Given the description of an element on the screen output the (x, y) to click on. 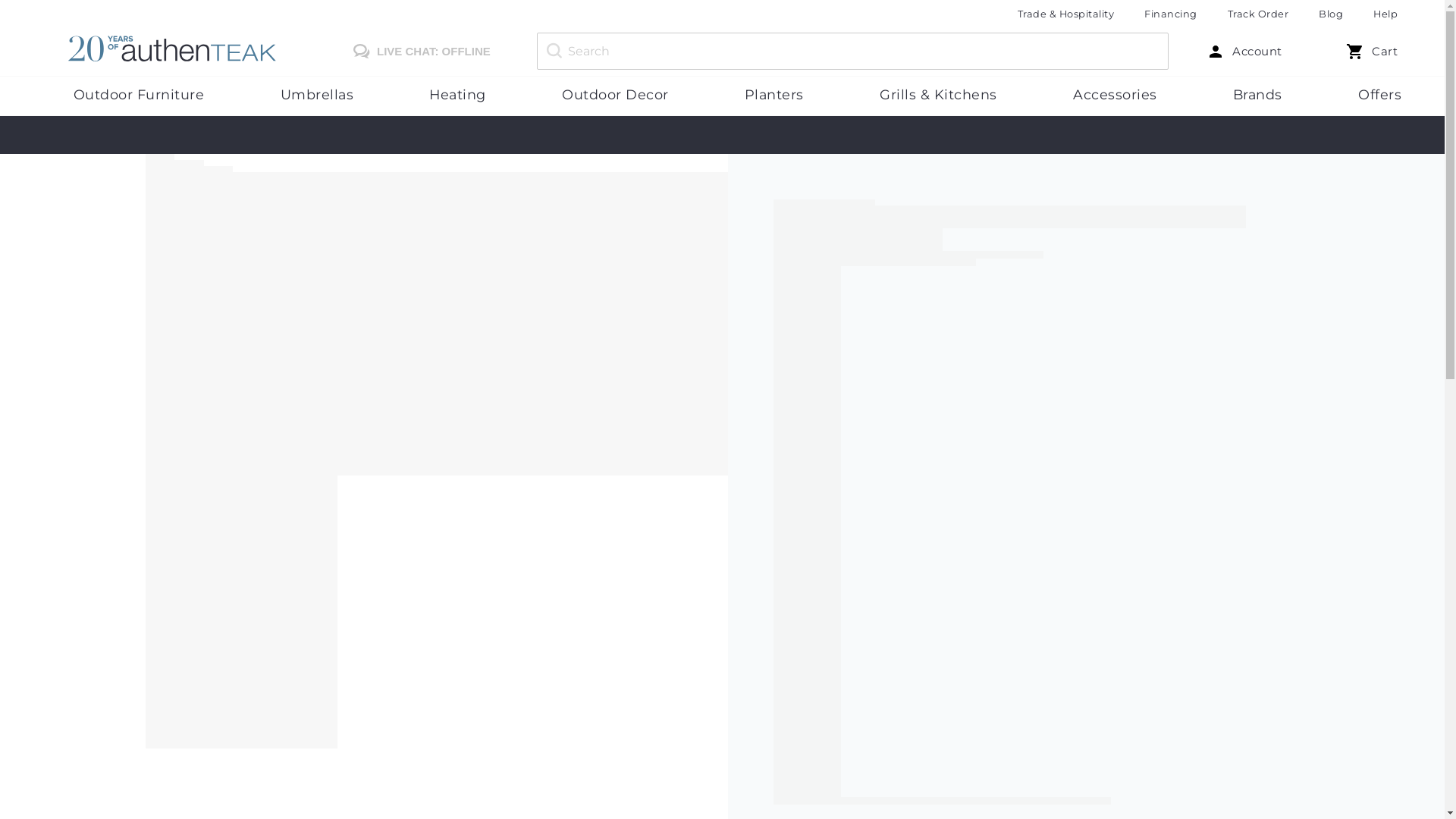
Account (1244, 51)
Shop All Brands (1257, 94)
Chat with us today! (416, 51)
Shop Patio Umbrellas and Accessories (316, 94)
Outdoor Furniture (138, 94)
Heating (456, 94)
Your account (1244, 51)
Blog (1330, 14)
Authenteak.com (185, 51)
Accessories (1115, 94)
Shop Outdoor Decor (615, 94)
Financing (1170, 14)
Shop All Planters (773, 94)
LIVE CHAT: OFFLINE (416, 51)
Go to Help page (1385, 14)
